Given the description of an element on the screen output the (x, y) to click on. 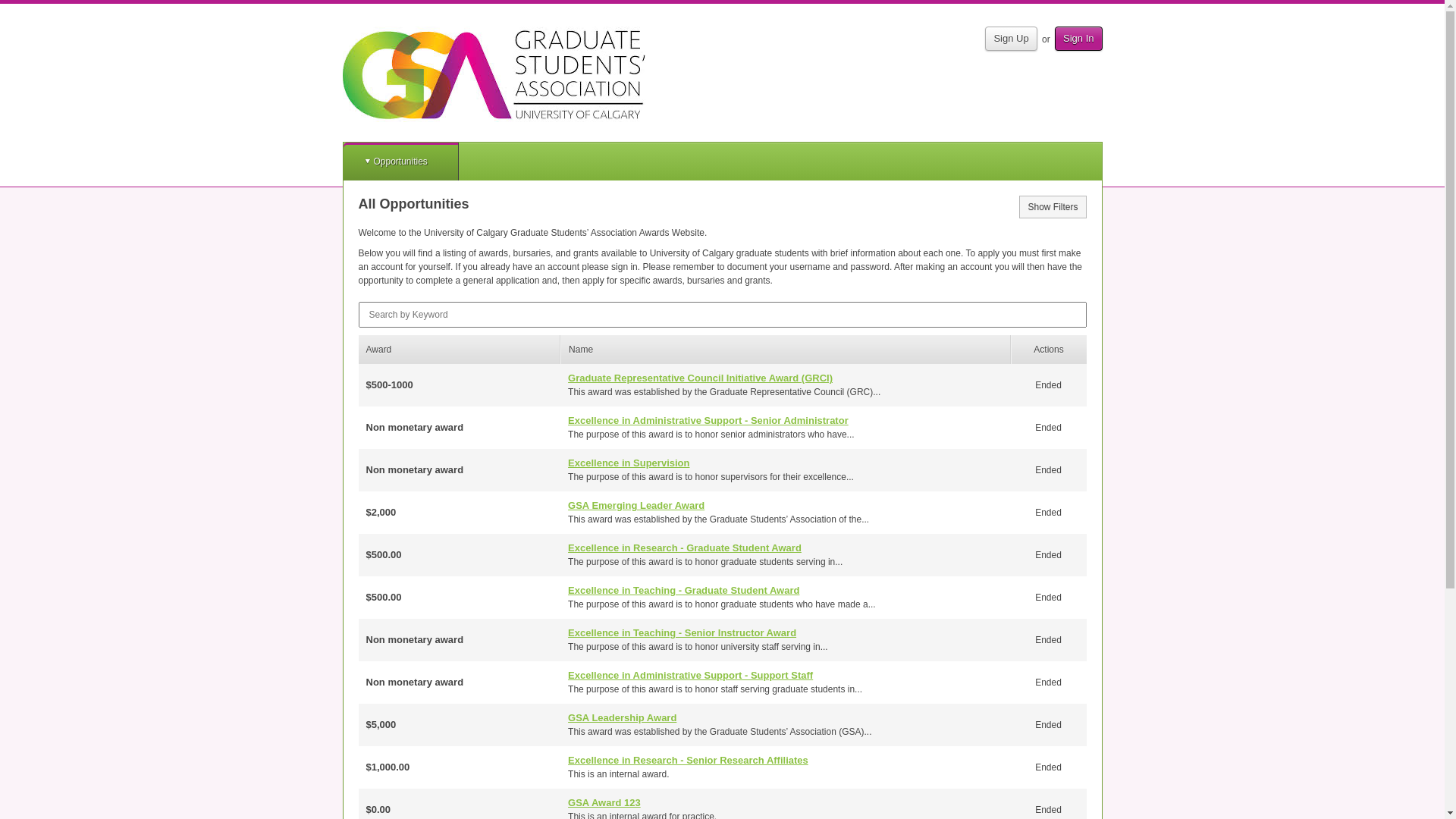
Excellence in Administrative Support - Senior Administrator Element type: text (707, 420)
GSA Award 123 Element type: text (603, 802)
GSA Leadership Award Element type: text (621, 717)
Excellence in Teaching - Senior Instructor Award Element type: text (681, 632)
GSA Emerging Leader Award Element type: text (635, 505)
Graduate Representative Council Initiative Award (GRCI) Element type: text (699, 377)
Excellence in Administrative Support - Support Staff Element type: text (689, 674)
Excellence in Teaching - Graduate Student Award Element type: text (683, 590)
Opportunities Element type: text (399, 161)
Excellence in Supervision Element type: text (628, 462)
Sign In Element type: text (1077, 38)
Graduate Students' Association Awards Element type: hover (493, 74)
Sign Up Element type: text (1010, 38)
Excellence in Research - Graduate Student Award Element type: text (684, 547)
Excellence in Research - Senior Research Affiliates Element type: text (687, 759)
Show Filters Element type: text (1052, 206)
